Given the description of an element on the screen output the (x, y) to click on. 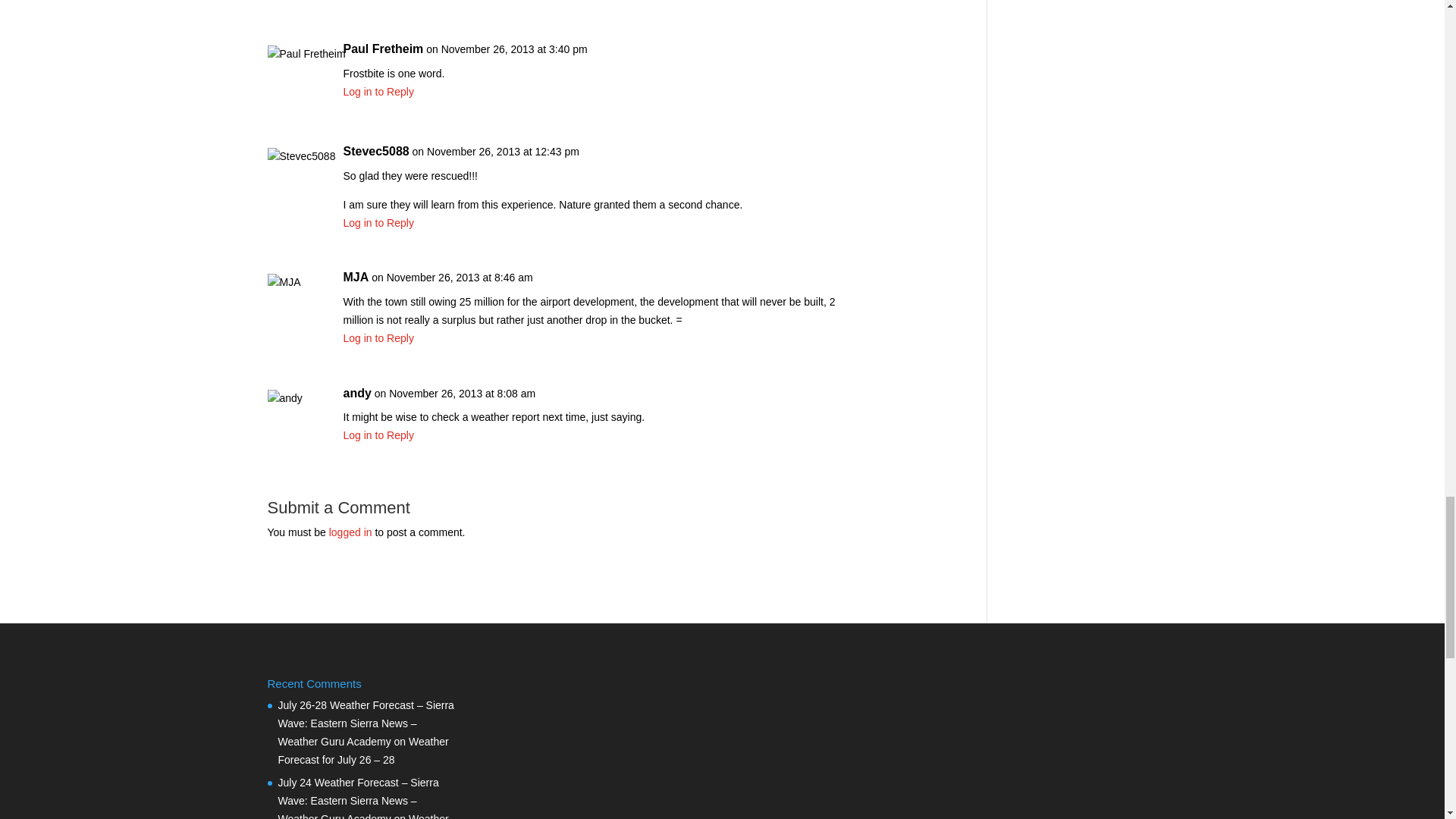
logged in (350, 532)
Log in to Reply (377, 91)
Log in to Reply (377, 435)
Log in to Reply (377, 337)
Log in to Reply (377, 223)
Stevec5088 (375, 151)
